Given the description of an element on the screen output the (x, y) to click on. 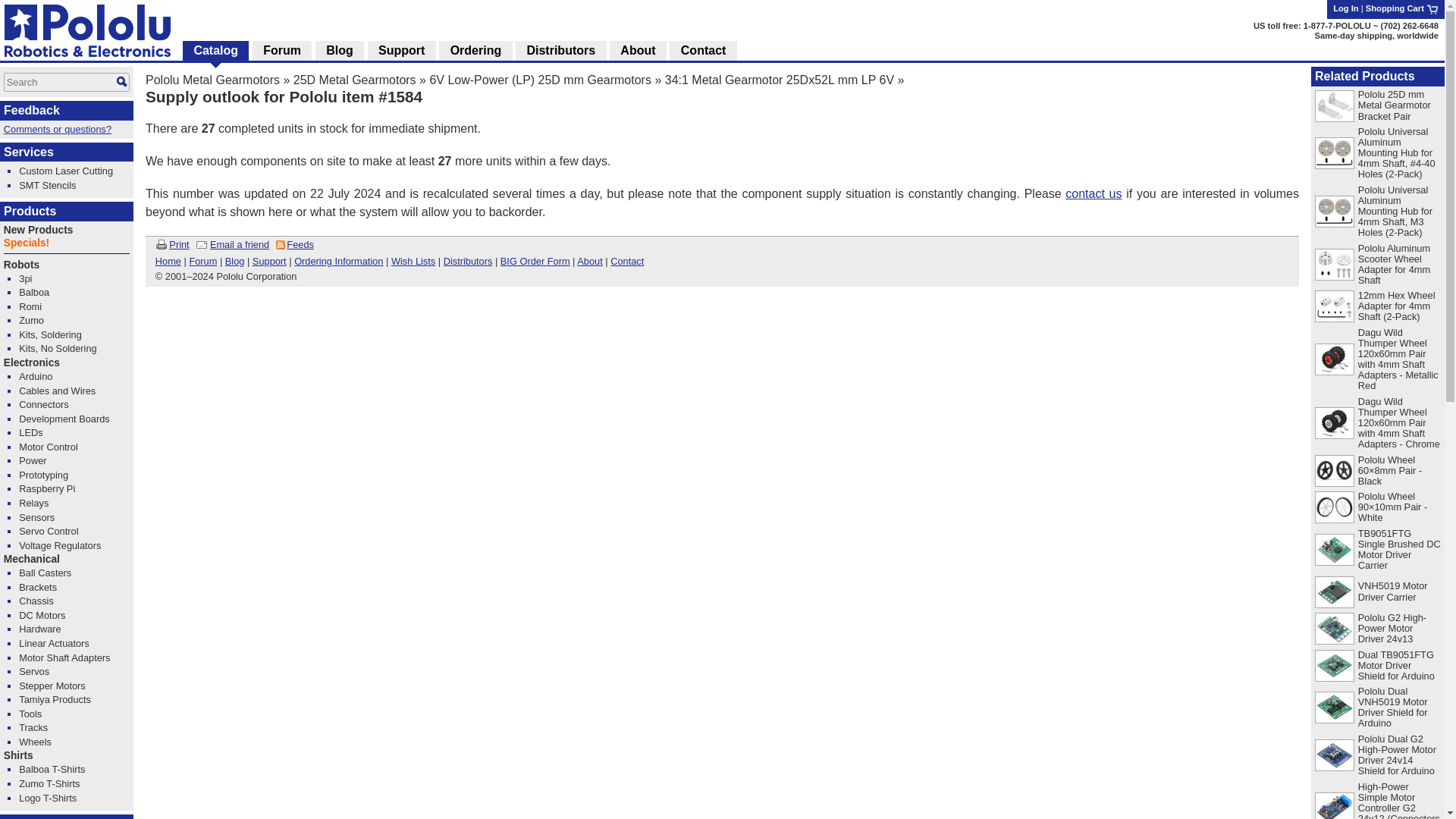
Pololu 25D mm Metal Gearmotor Bracket Pair (1394, 104)
go (122, 81)
go (122, 81)
Pololu Metal Gearmotors (212, 79)
34:1 Metal Gearmotor 25Dx52L mm LP 6V (779, 79)
contact us (1093, 193)
25D Metal Gearmotors (355, 79)
